Given the description of an element on the screen output the (x, y) to click on. 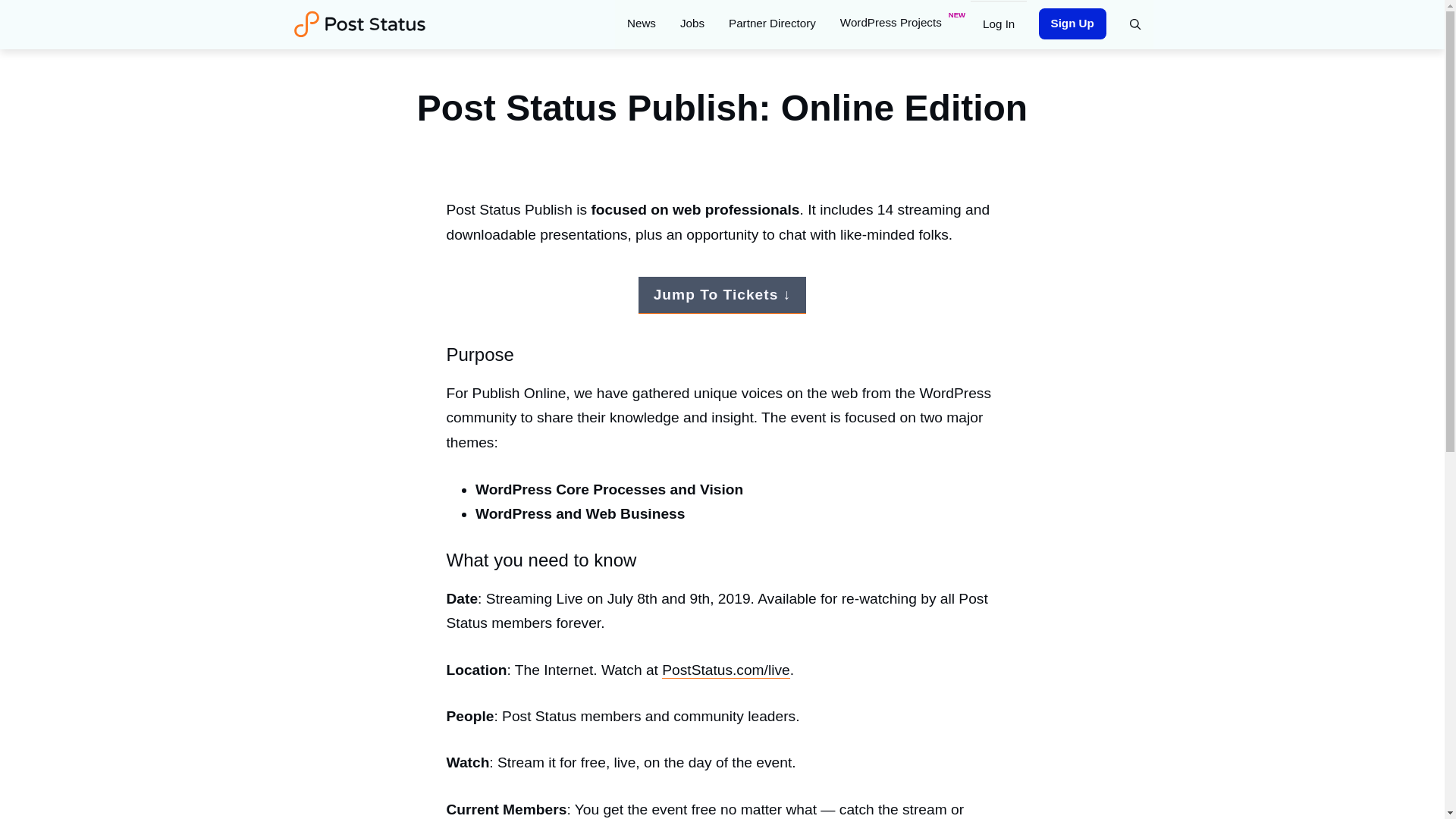
WordPress Projects (899, 23)
Jobs (692, 22)
Partner Directory (772, 22)
Log In (998, 22)
Sign Up (1072, 22)
News (641, 22)
